Given the description of an element on the screen output the (x, y) to click on. 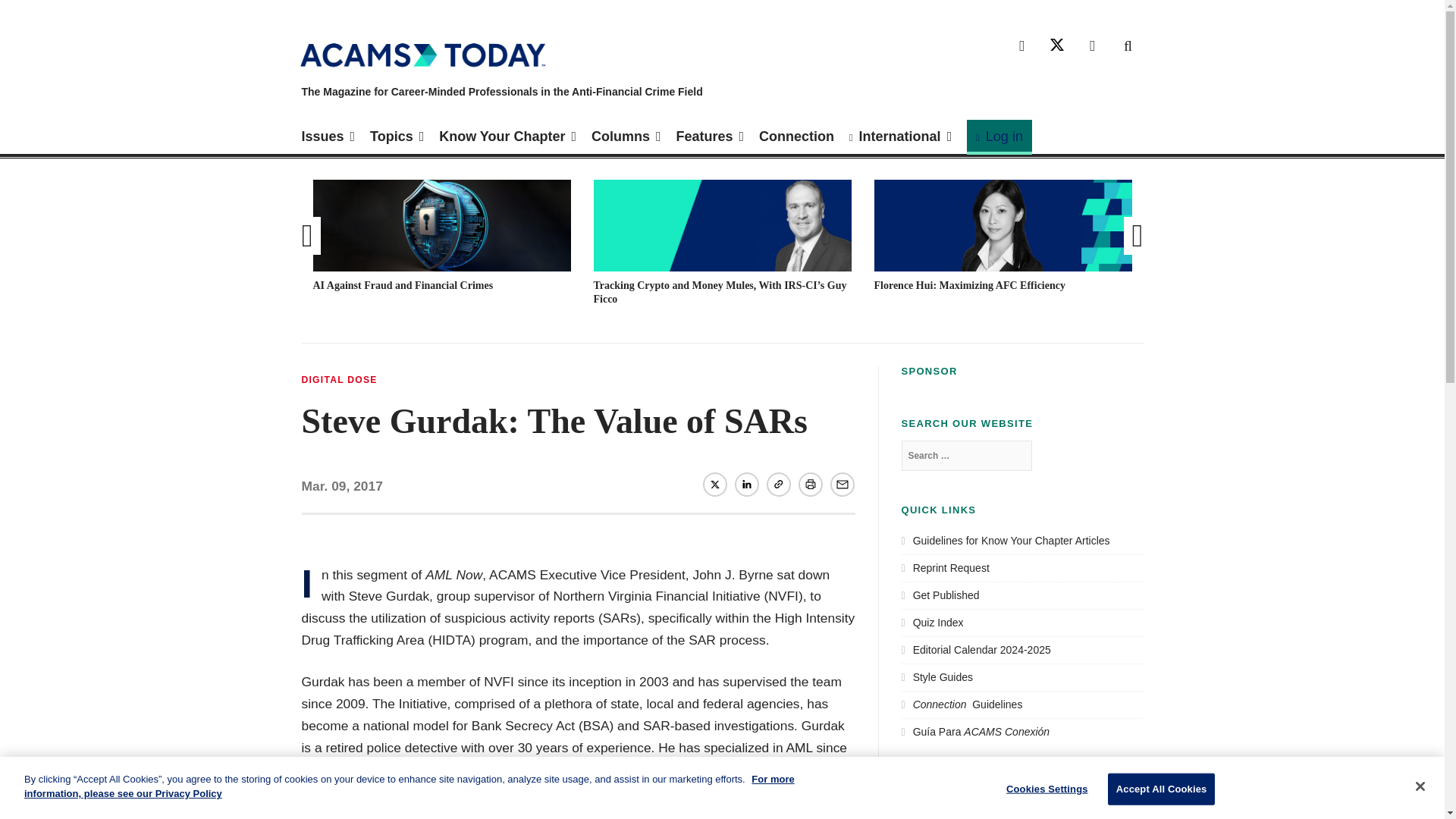
Twitter (714, 483)
LinkedIn (746, 483)
Twitter (1056, 45)
copy (778, 483)
LinkedIn (1092, 45)
Facebook (1021, 45)
Log in (999, 136)
